Given the description of an element on the screen output the (x, y) to click on. 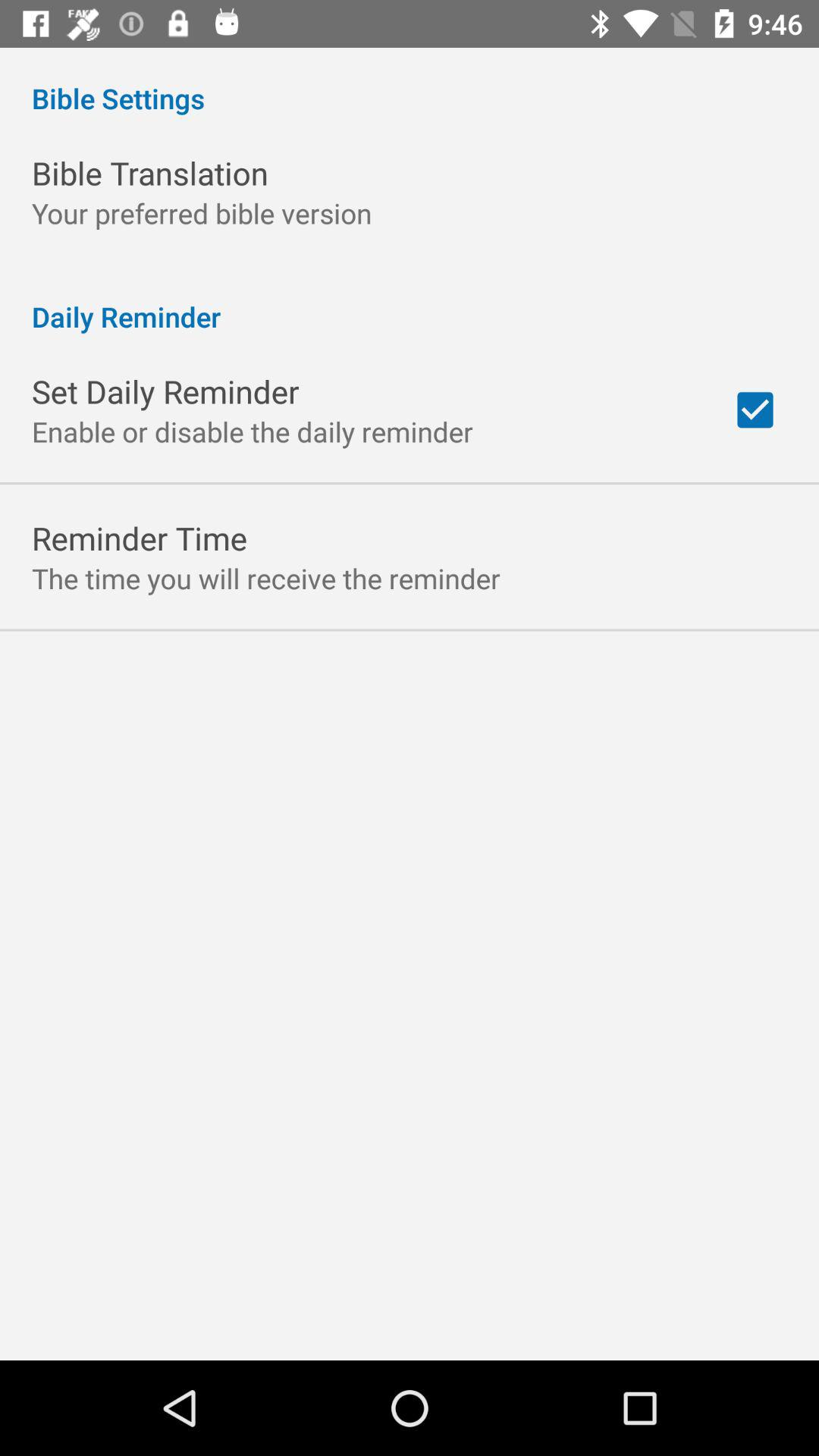
open the item above bible translation icon (409, 82)
